Given the description of an element on the screen output the (x, y) to click on. 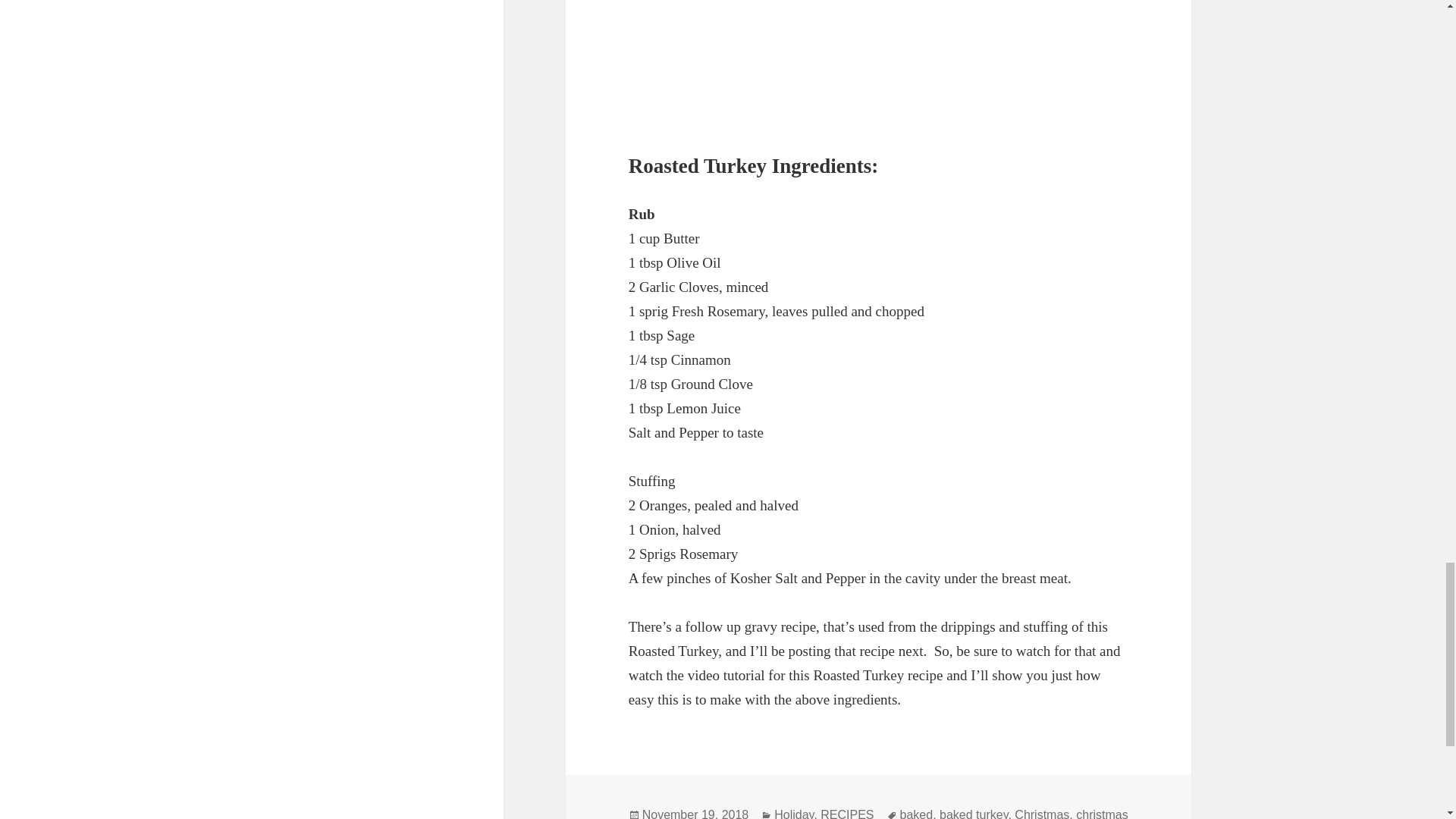
November 19, 2018 (695, 813)
baked (916, 813)
Holiday (793, 813)
christmas turkey (878, 813)
baked turkey (973, 813)
Christmas (1041, 813)
RECIPES (847, 813)
